Given the description of an element on the screen output the (x, y) to click on. 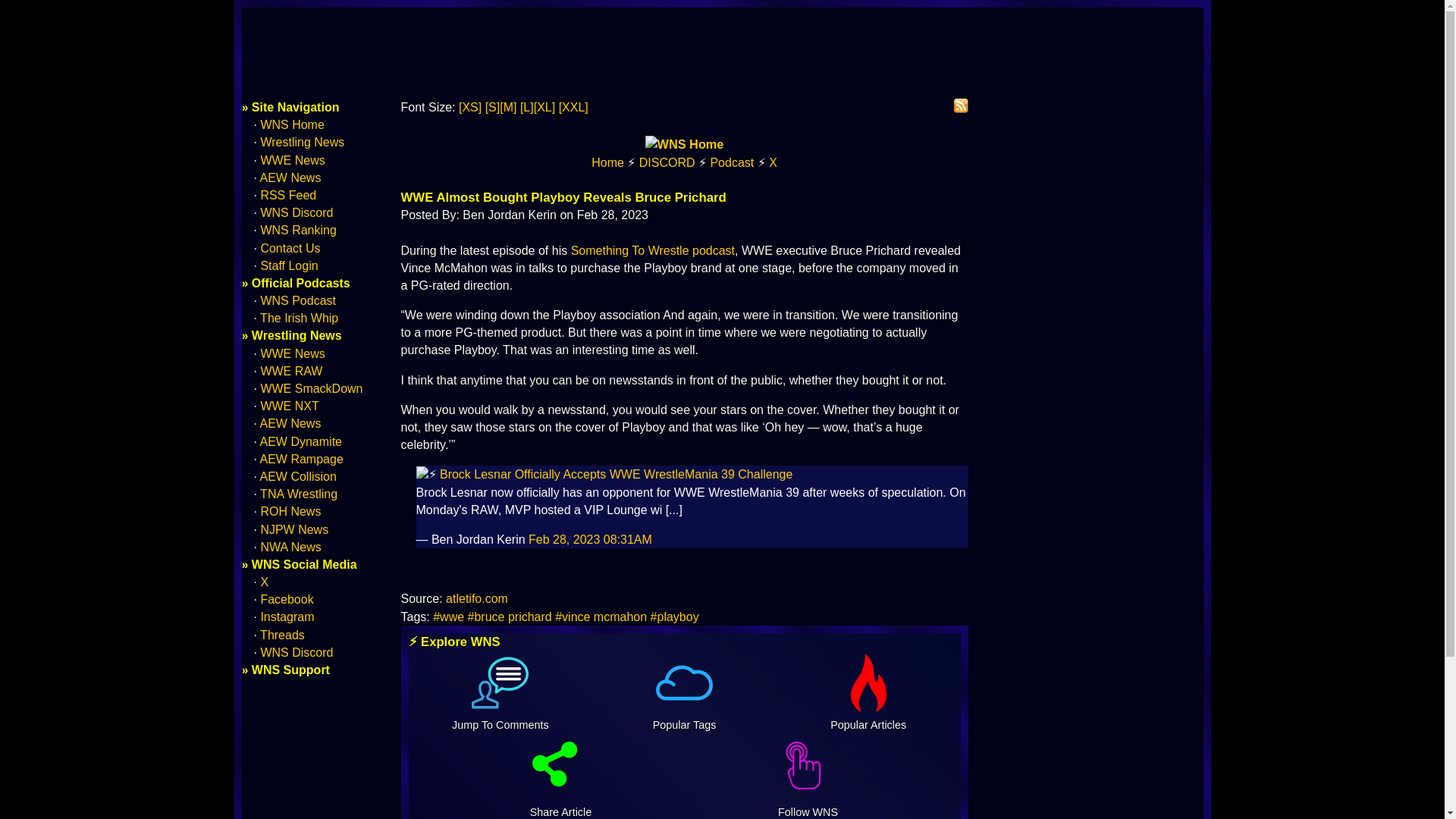
WNS on Discord (667, 162)
WNS Home (607, 162)
ROH News (290, 511)
NJPW News (294, 529)
WWE SmackDown (311, 388)
AEW Collision (298, 476)
WWE News (292, 353)
Facebook (286, 599)
WWE NXT (289, 405)
WNS Podcast (732, 162)
WNS Home (291, 124)
AEW News (290, 422)
RSS Feed (287, 195)
The Irish Whip (298, 318)
WWE News (292, 160)
